Given the description of an element on the screen output the (x, y) to click on. 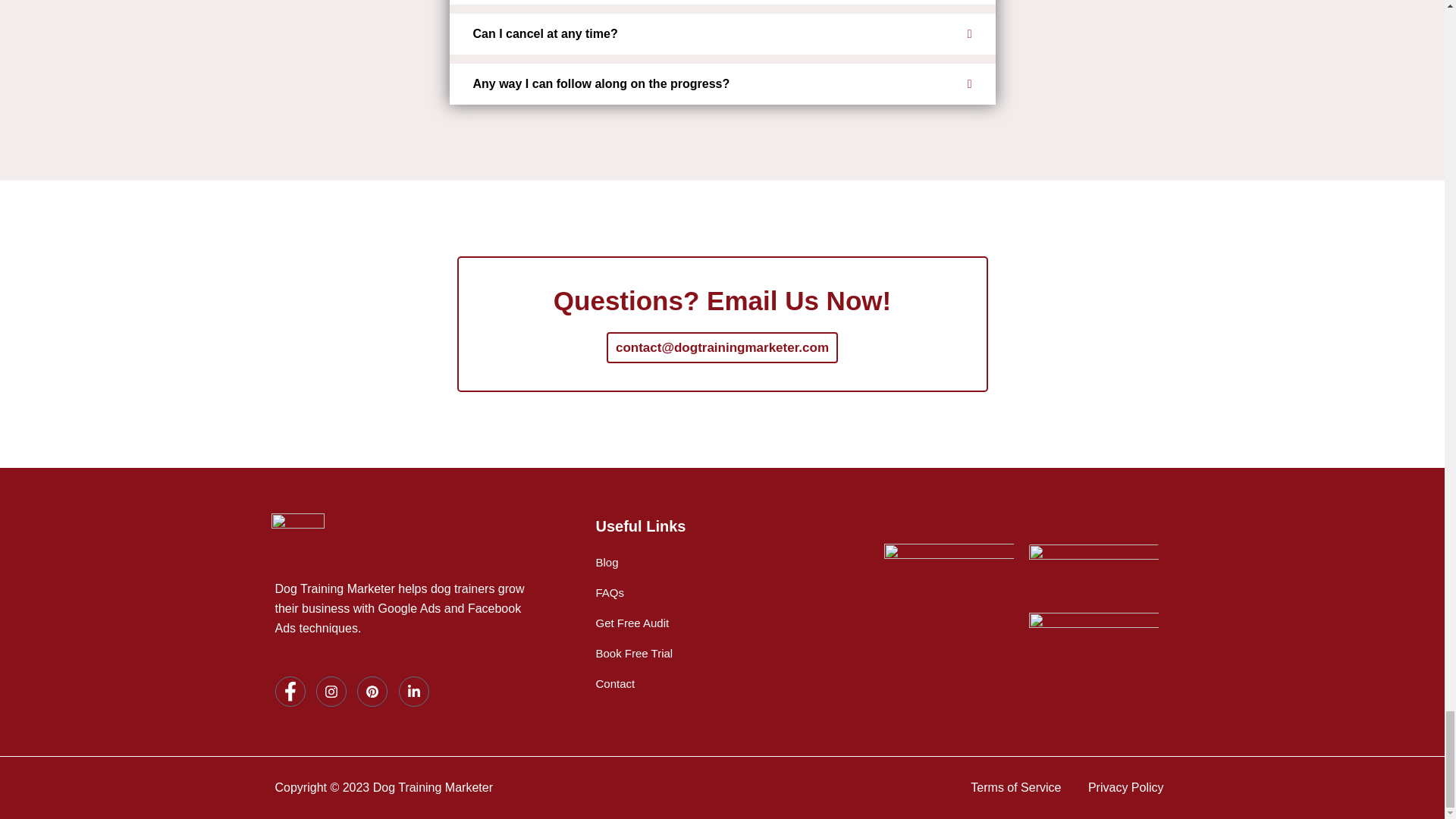
Any way I can follow along on the progress? (721, 83)
Get Free Audit (631, 623)
Book Free Trial (633, 653)
FAQs (609, 593)
Contact (614, 684)
Can I cancel at any time? (721, 33)
